Given the description of an element on the screen output the (x, y) to click on. 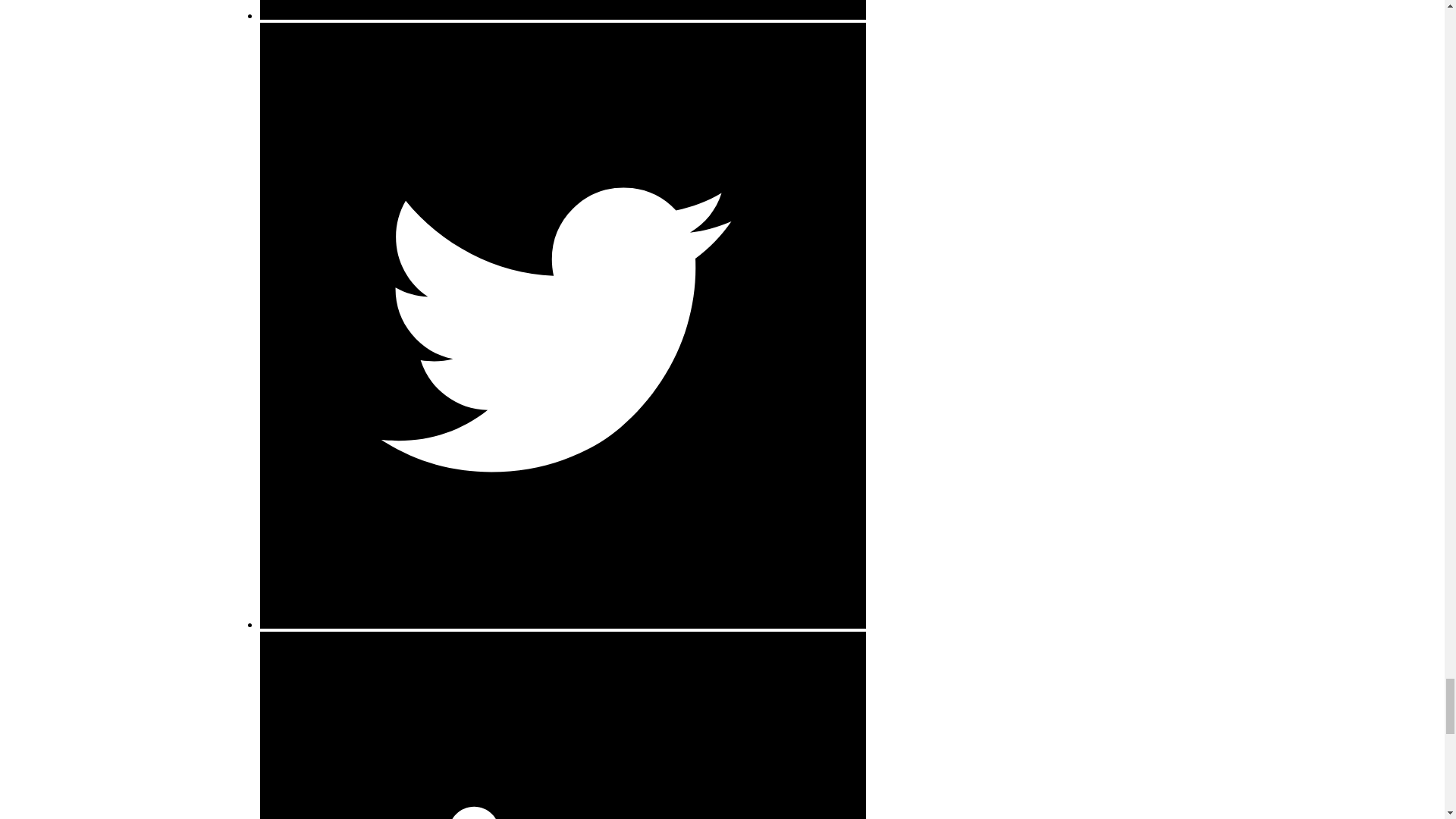
facebook (561, 9)
linkedIn (561, 725)
twitter (561, 624)
facebook (561, 15)
